Given the description of an element on the screen output the (x, y) to click on. 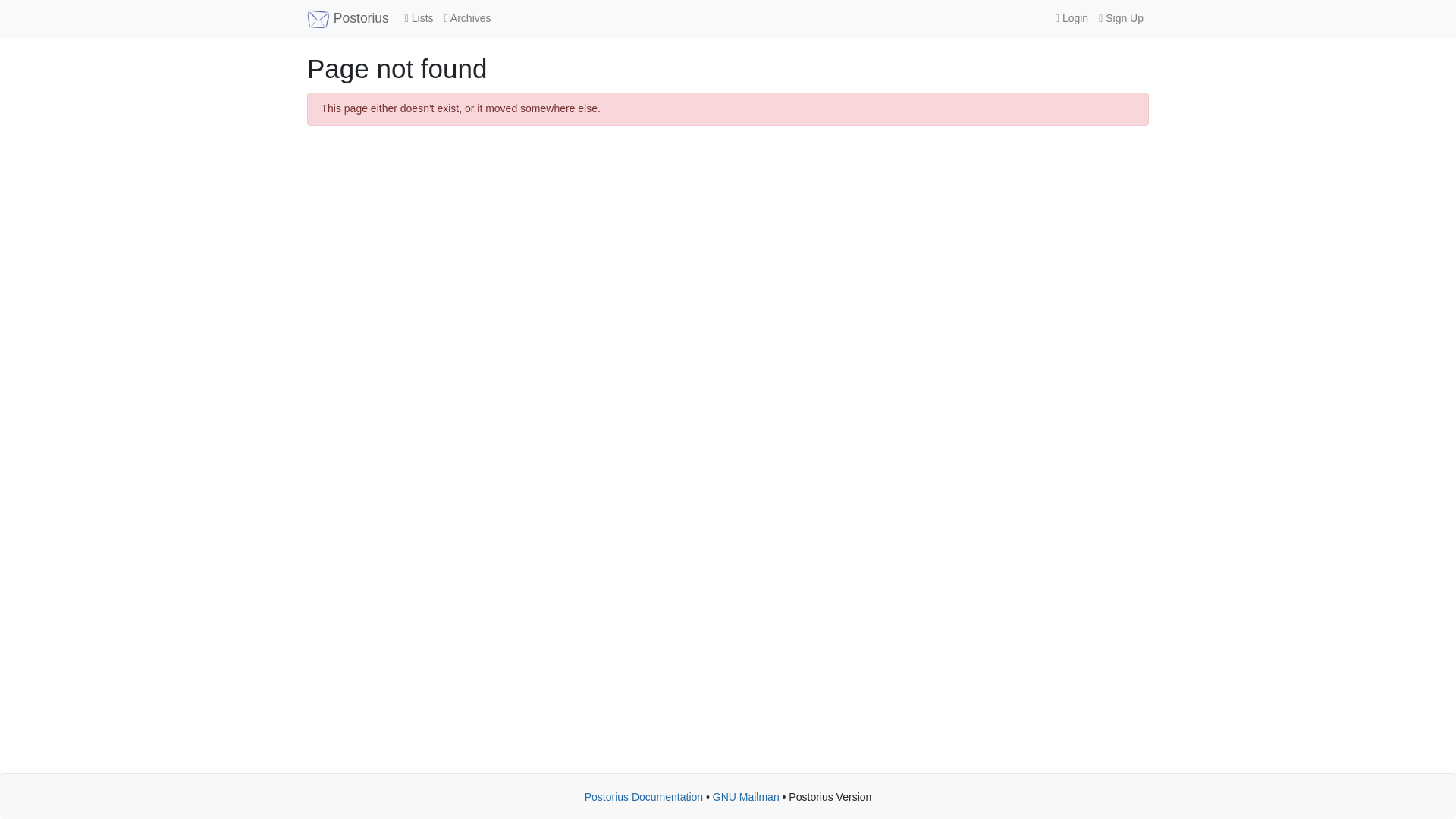
Sign Up (1120, 17)
Archives (467, 17)
Login (1071, 17)
Lists (418, 17)
Postorius (347, 18)
